Given the description of an element on the screen output the (x, y) to click on. 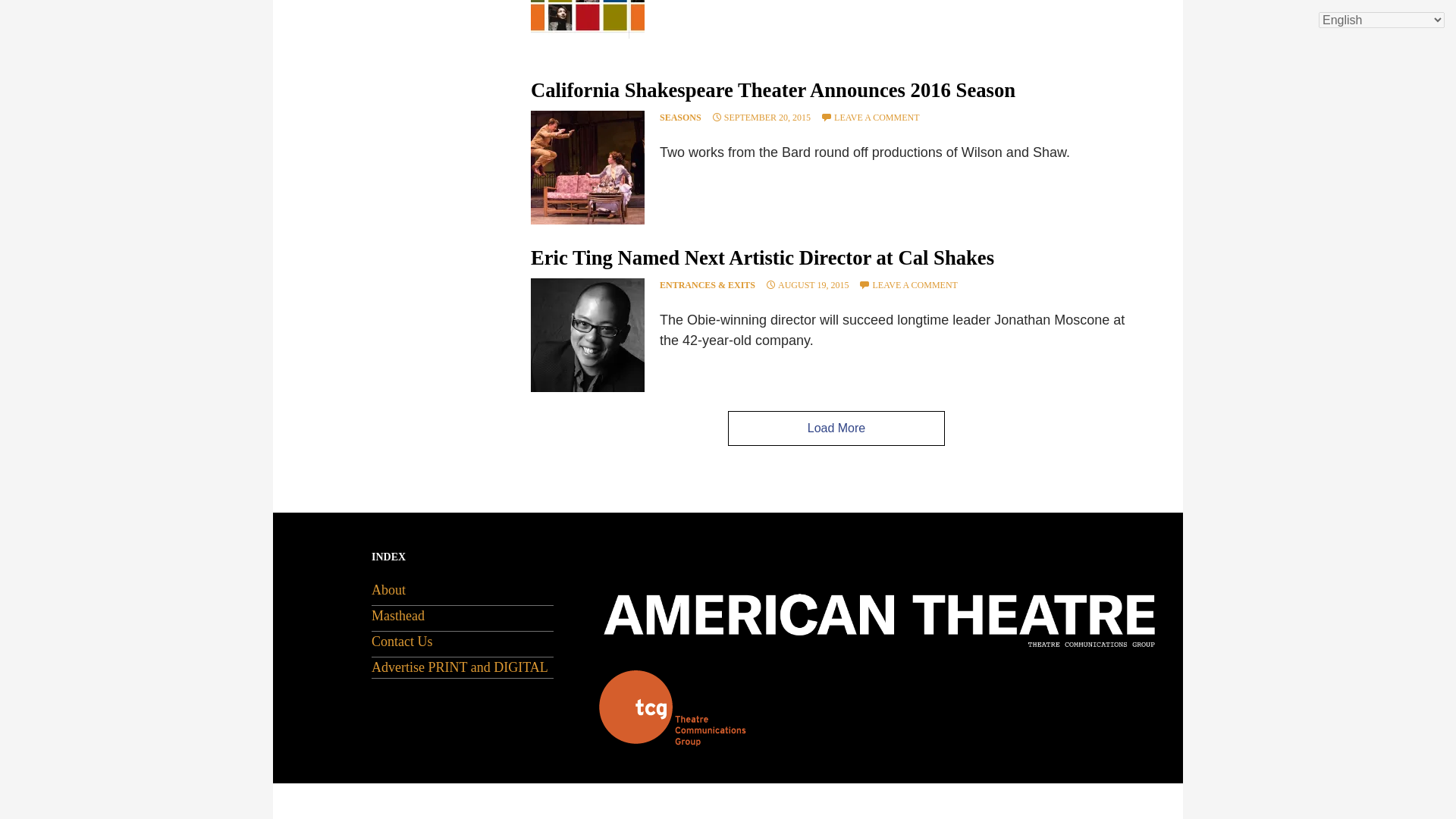
6 Theatre Workers You Should Know (588, 19)
